Given the description of an element on the screen output the (x, y) to click on. 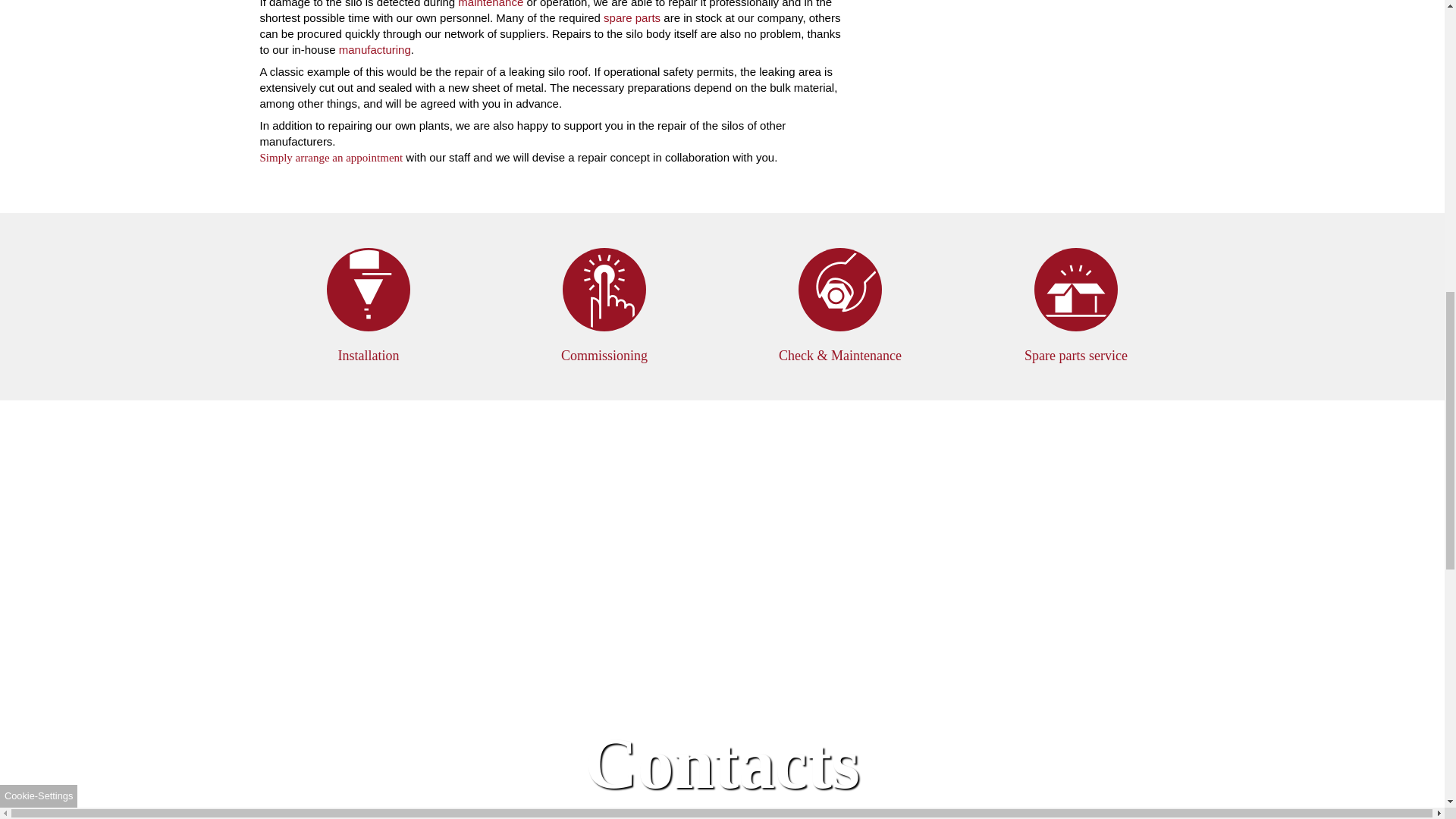
maintenance (490, 4)
Link-Ziel (840, 306)
manufacturing (374, 49)
Commissioning (604, 306)
Installation (368, 306)
Simply arrange an appointment (331, 156)
Link-Ziel (1075, 306)
Link-Ziel (604, 306)
Ask us! (722, 812)
spare parts (632, 17)
